Given the description of an element on the screen output the (x, y) to click on. 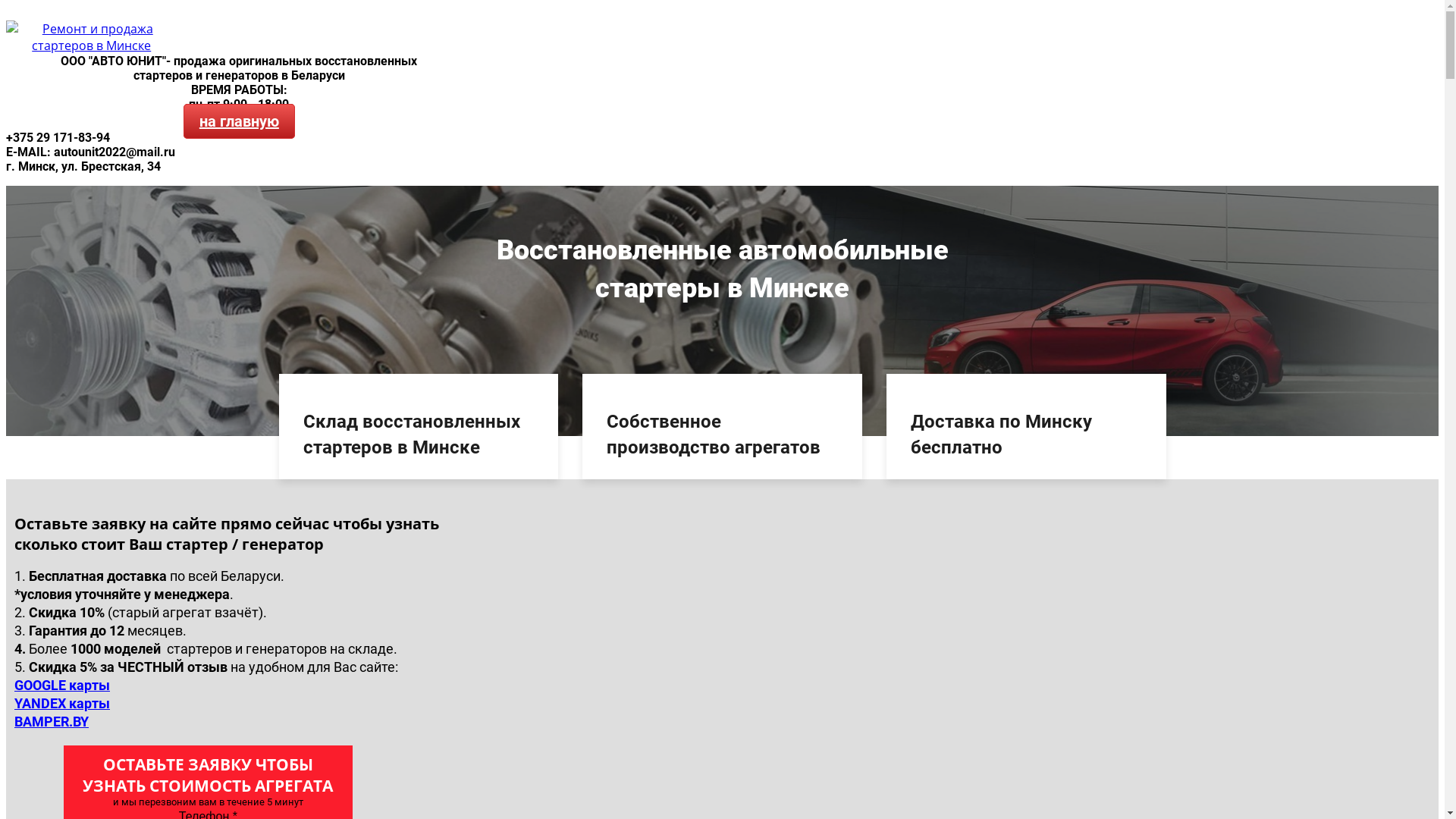
BAMPER.BY Element type: text (51, 721)
